Given the description of an element on the screen output the (x, y) to click on. 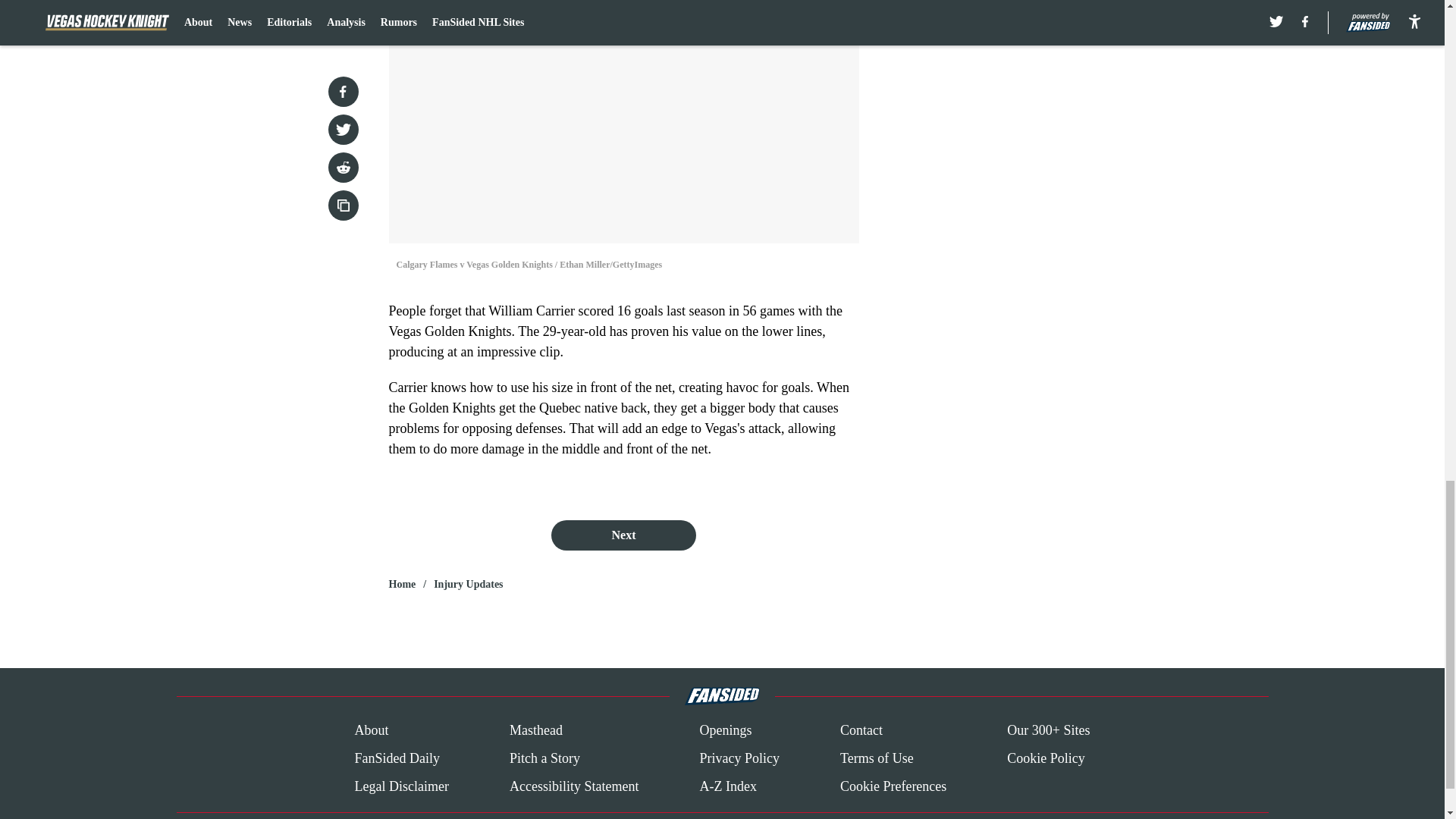
Cookie Policy (1045, 758)
Privacy Policy (738, 758)
Masthead (535, 730)
Cookie Preferences (893, 786)
A-Z Index (726, 786)
About (370, 730)
Pitch a Story (544, 758)
FanSided Daily (396, 758)
Legal Disclaimer (400, 786)
Terms of Use (877, 758)
Home (401, 584)
Contact (861, 730)
Accessibility Statement (574, 786)
Injury Updates (467, 584)
Next (622, 535)
